Given the description of an element on the screen output the (x, y) to click on. 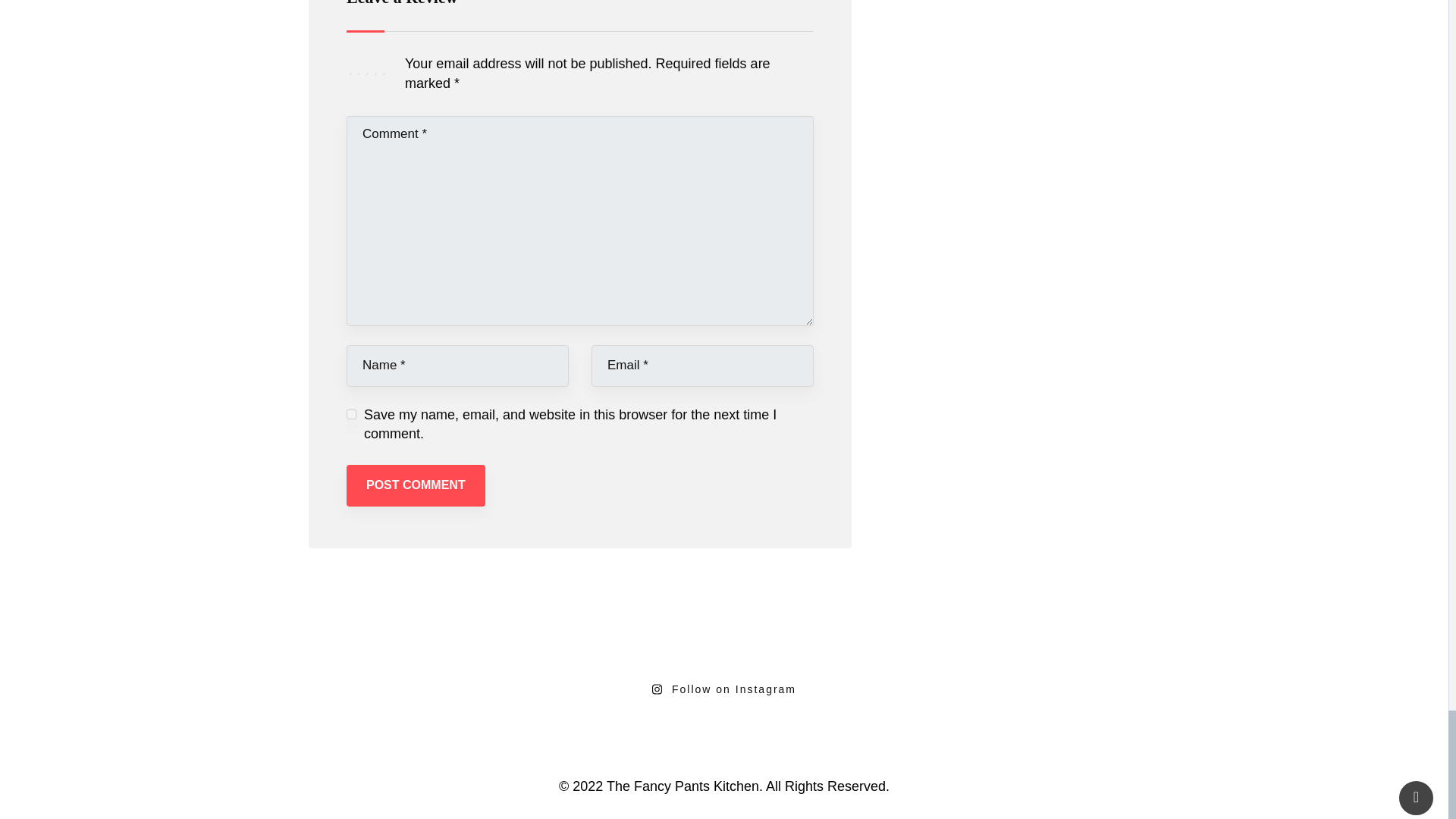
Post Comment (415, 485)
Post Comment (415, 485)
yes (351, 414)
